Given the description of an element on the screen output the (x, y) to click on. 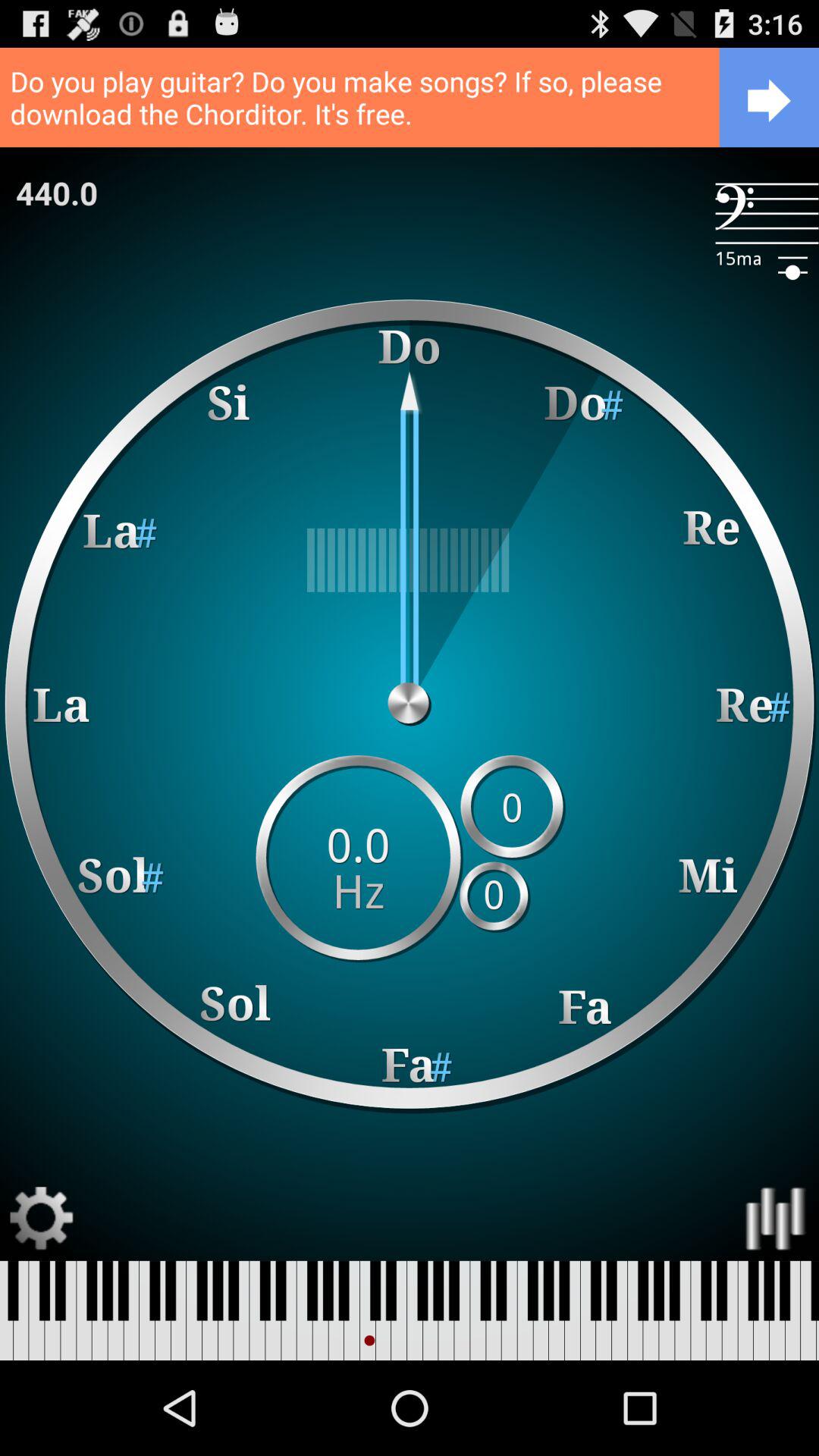
open settings (42, 1218)
